Given the description of an element on the screen output the (x, y) to click on. 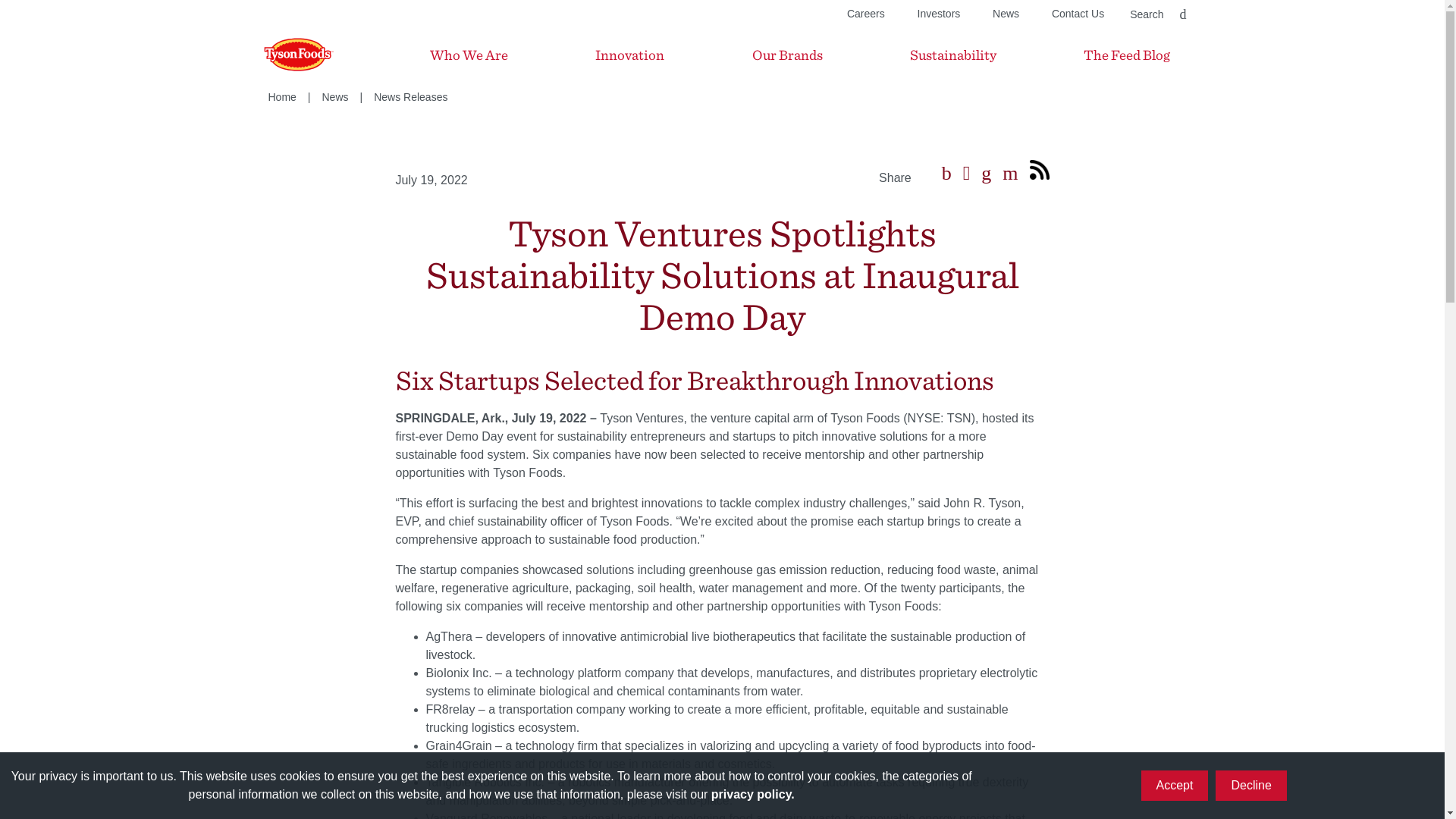
Tyson Foods (283, 54)
